Given the description of an element on the screen output the (x, y) to click on. 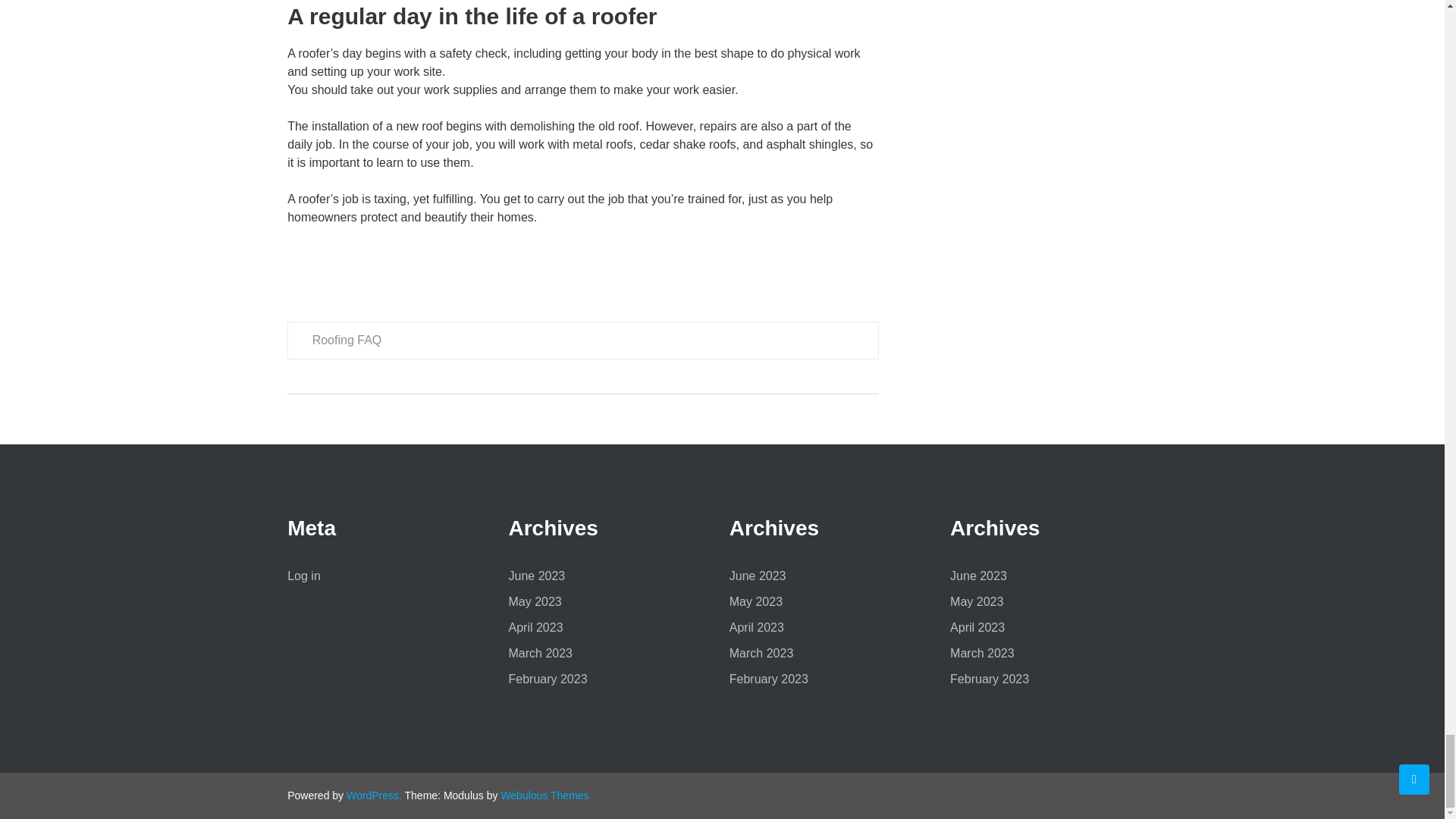
Roofing FAQ (347, 339)
